Given the description of an element on the screen output the (x, y) to click on. 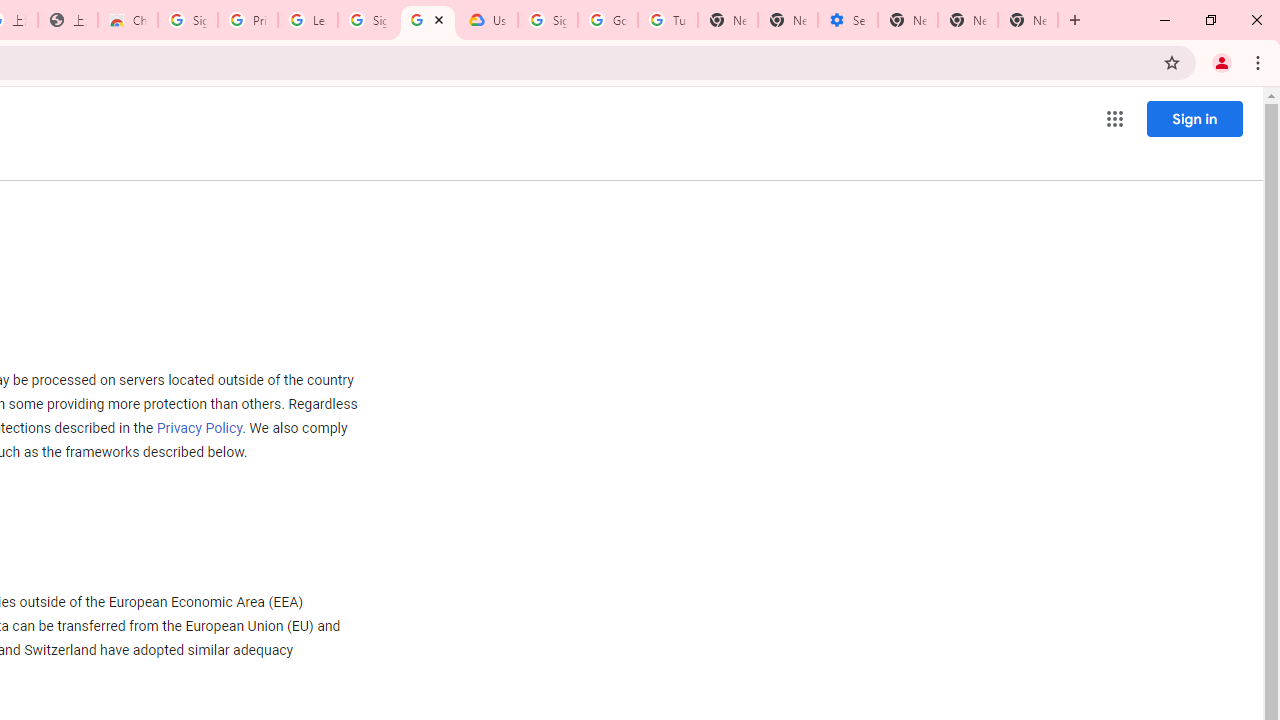
Chrome Web Store - Color themes by Chrome (127, 20)
Google Account Help (607, 20)
Sign in - Google Accounts (548, 20)
Turn cookies on or off - Computer - Google Account Help (667, 20)
